Given the description of an element on the screen output the (x, y) to click on. 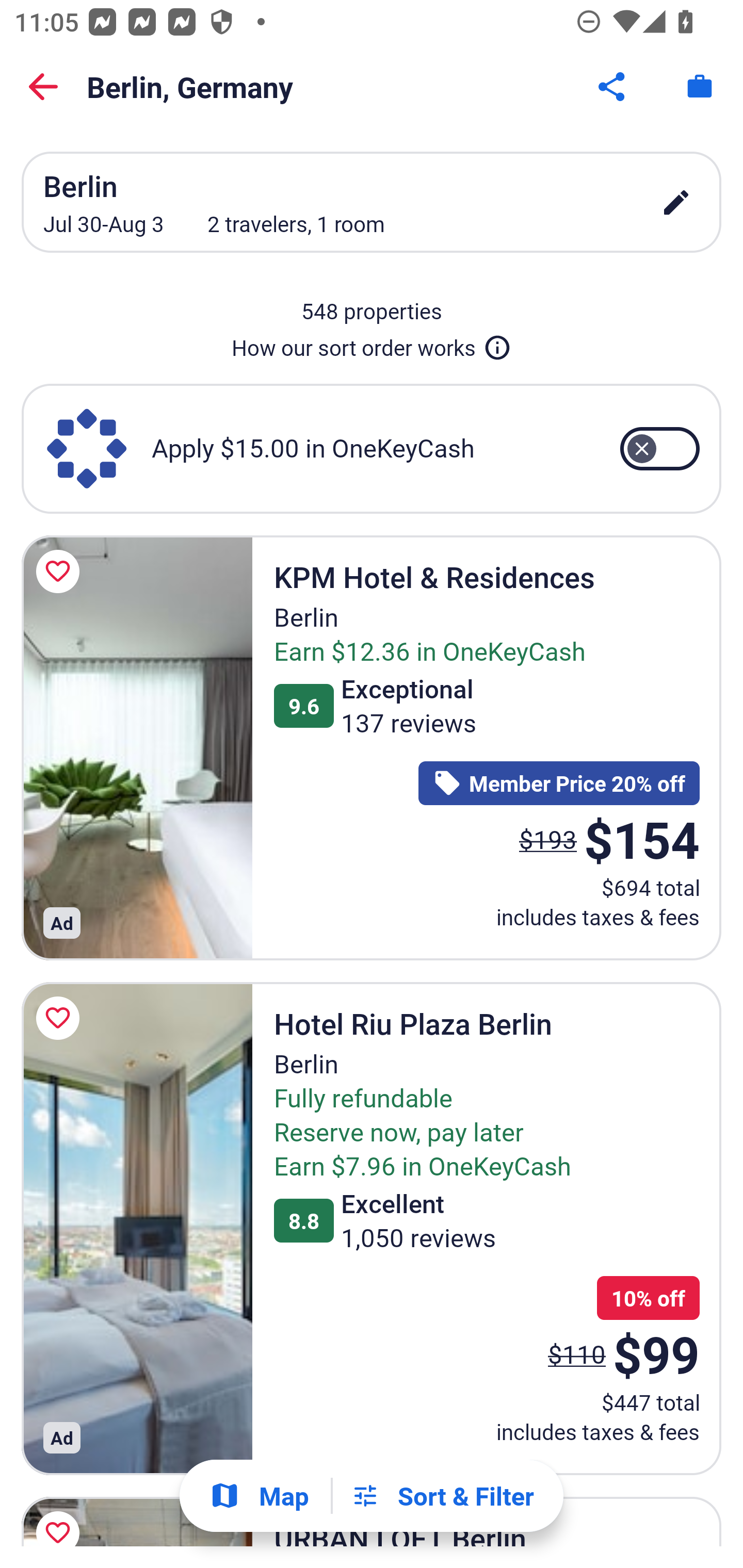
Back (43, 86)
Share Button (612, 86)
Trips. Button (699, 86)
Berlin Jul 30-Aug 3 2 travelers, 1 room edit (371, 202)
How our sort order works (371, 344)
Save KPM Hotel & Residences to a trip (61, 571)
KPM Hotel & Residences (136, 746)
$193 The price was $193 (547, 839)
Save Hotel Riu Plaza Berlin to a trip (61, 1018)
Hotel Riu Plaza Berlin (136, 1228)
$110 The price was $110 (576, 1353)
Filters Sort & Filter Filters Button (442, 1495)
Show map Map Show map Button (258, 1495)
Save URBAN LOFT Berlin to a trip (61, 1517)
